Given the description of an element on the screen output the (x, y) to click on. 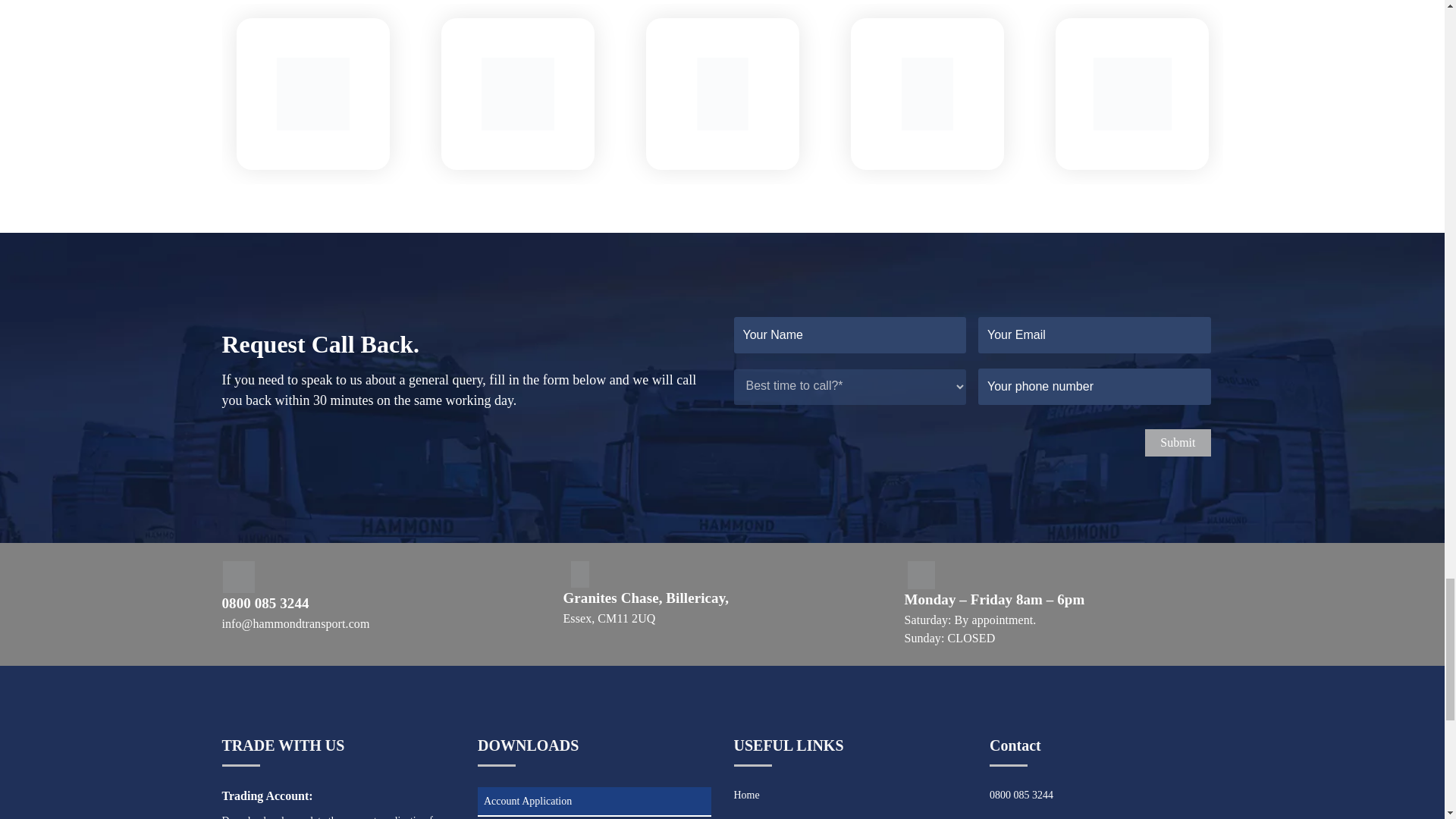
Submit (1176, 442)
